Given the description of an element on the screen output the (x, y) to click on. 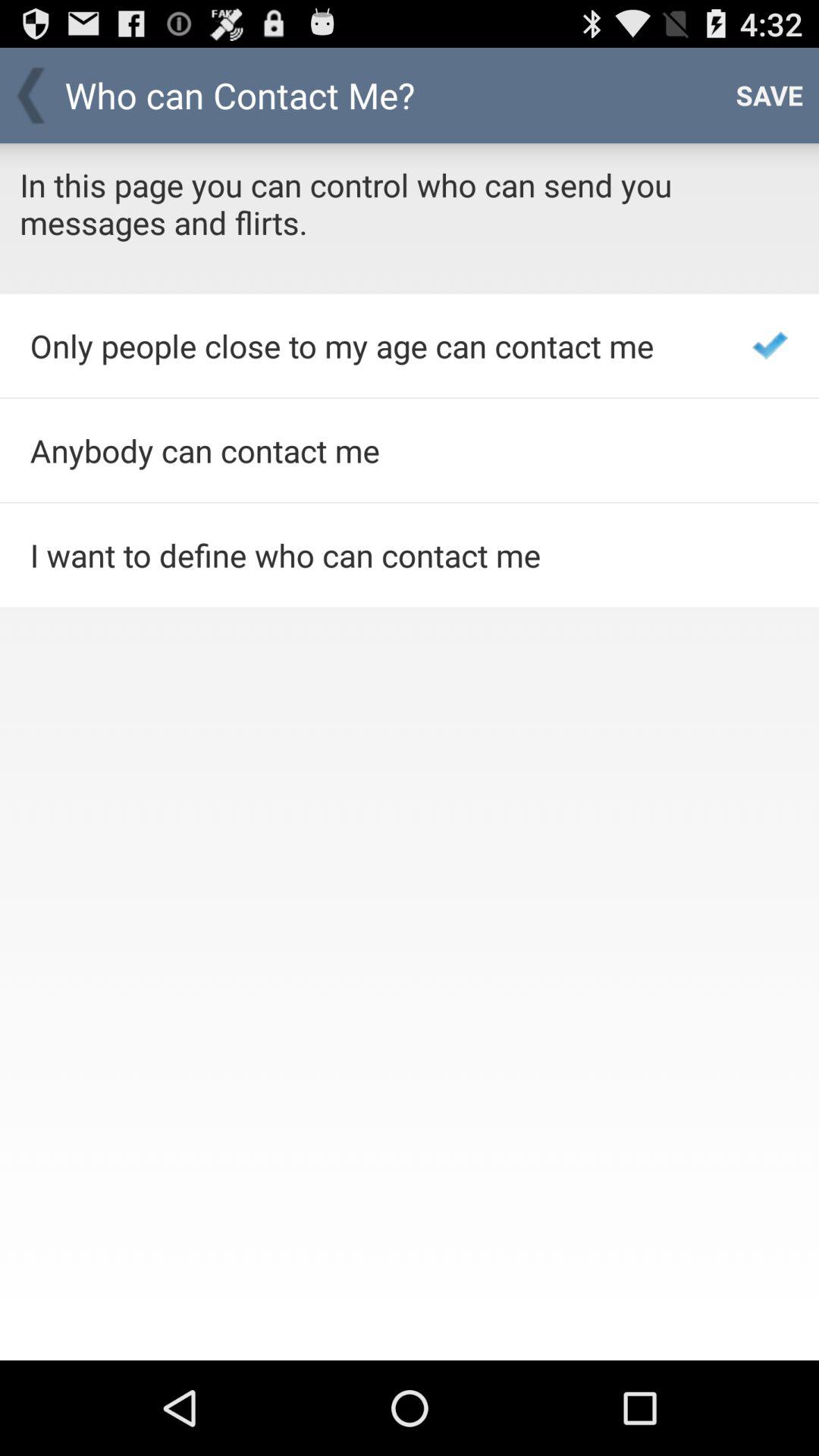
open app to the right of the who can contact item (769, 95)
